Given the description of an element on the screen output the (x, y) to click on. 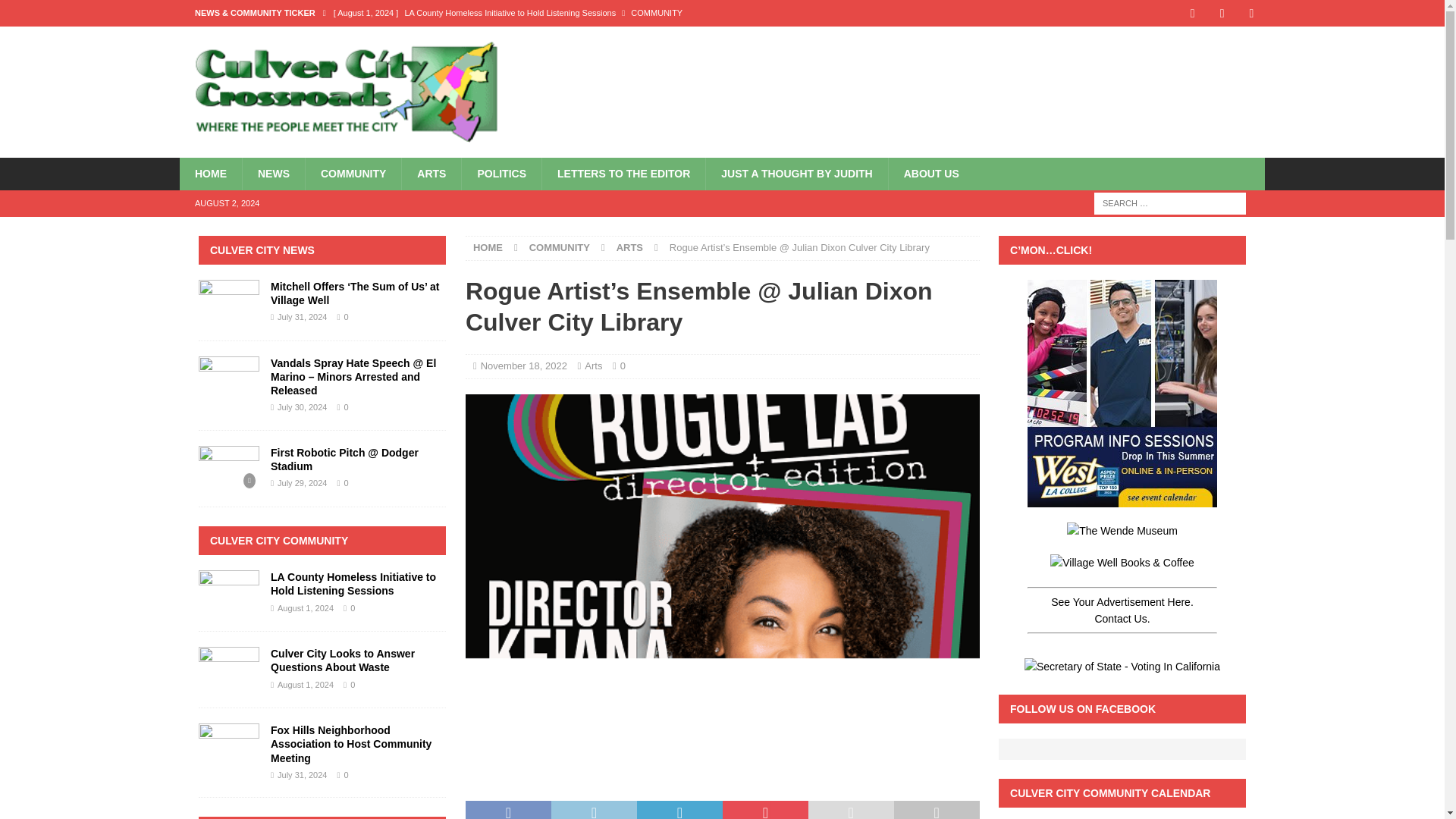
HOME (210, 173)
LETTERS TO THE EDITOR (622, 173)
HOME (487, 247)
ABOUT US (931, 173)
Search (56, 11)
COMMUNITY (352, 173)
LA County Homeless Initiative to Hold Listening Sessions (606, 12)
COMMUNITY (559, 247)
ARTS (431, 173)
Arts (593, 365)
ARTS (629, 247)
November 18, 2022 (523, 365)
POLITICS (501, 173)
NEWS (272, 173)
JUST A THOUGHT BY JUDITH (795, 173)
